Given the description of an element on the screen output the (x, y) to click on. 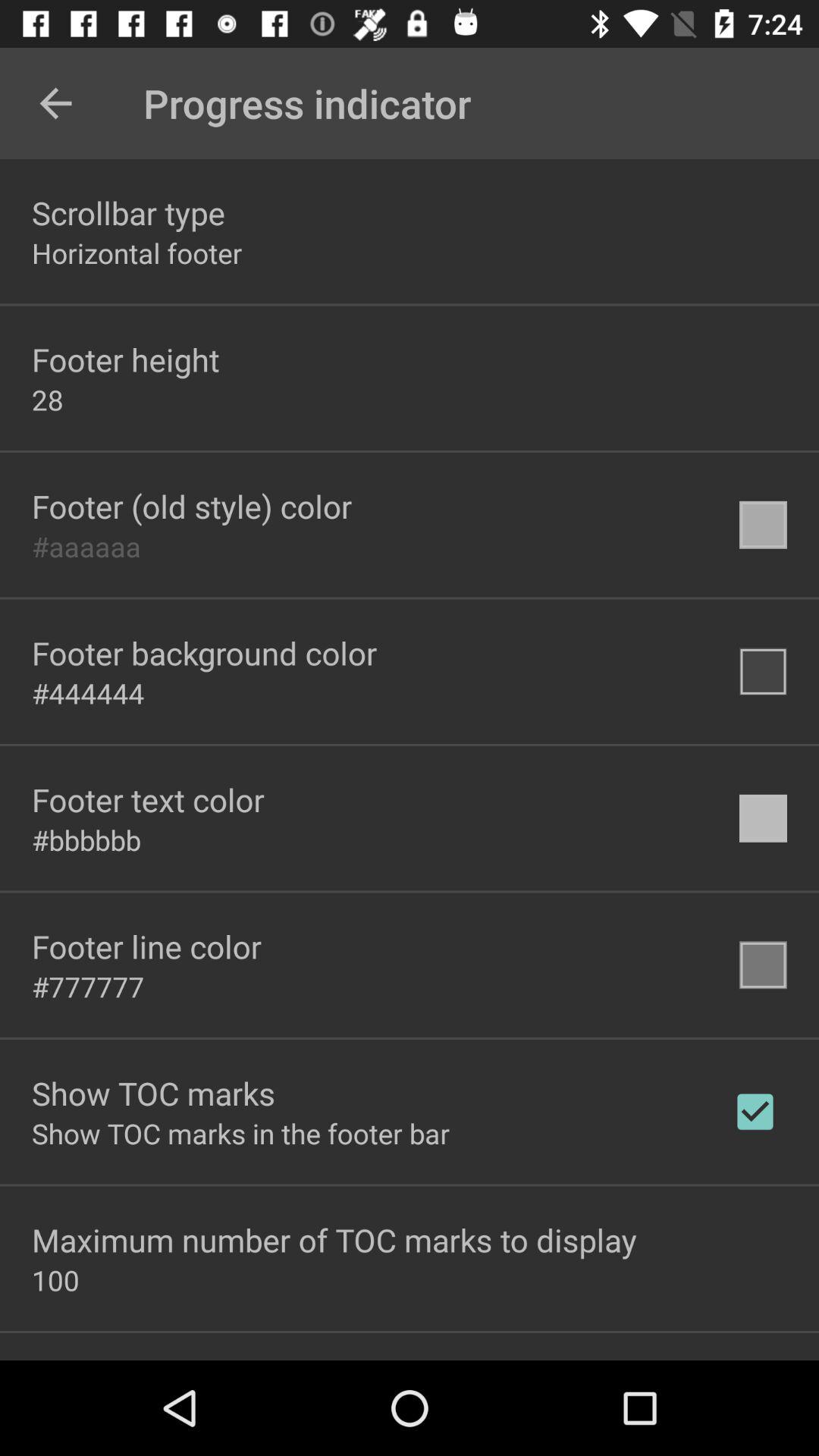
turn off #444444 icon (87, 693)
